Given the description of an element on the screen output the (x, y) to click on. 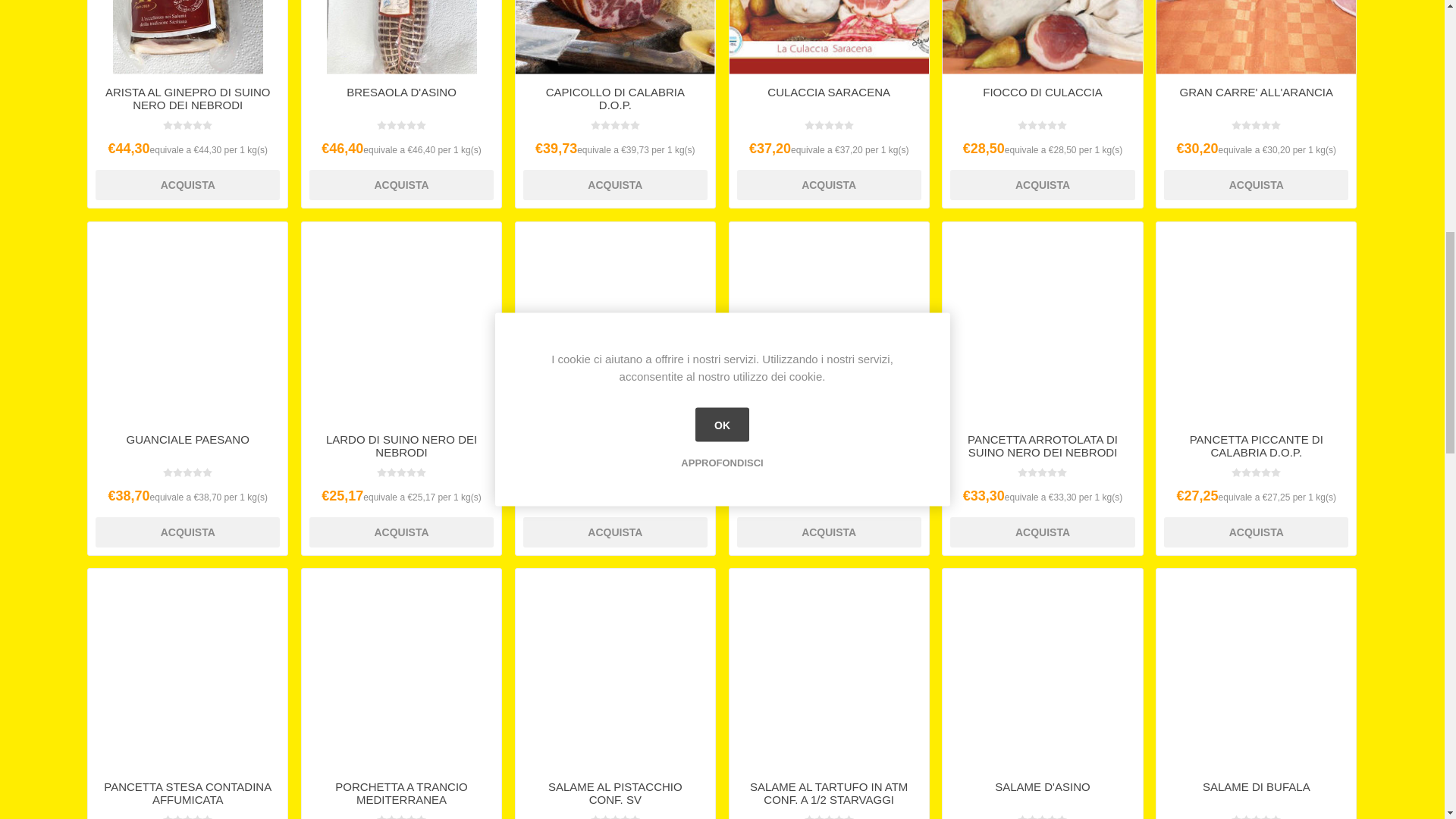
Visualizza i dettagli per BRESAOLA D'ASINO (400, 37)
Acquista (187, 531)
Acquista (614, 184)
Acquista (828, 531)
Acquista (187, 184)
Acquista (1042, 184)
Acquista (614, 531)
Acquista (1255, 184)
Visualizza i dettagli per BRESAOLA D'ASINO (401, 37)
Acquista (400, 184)
Acquista (828, 184)
Acquista (1042, 531)
Acquista (400, 531)
